Given the description of an element on the screen output the (x, y) to click on. 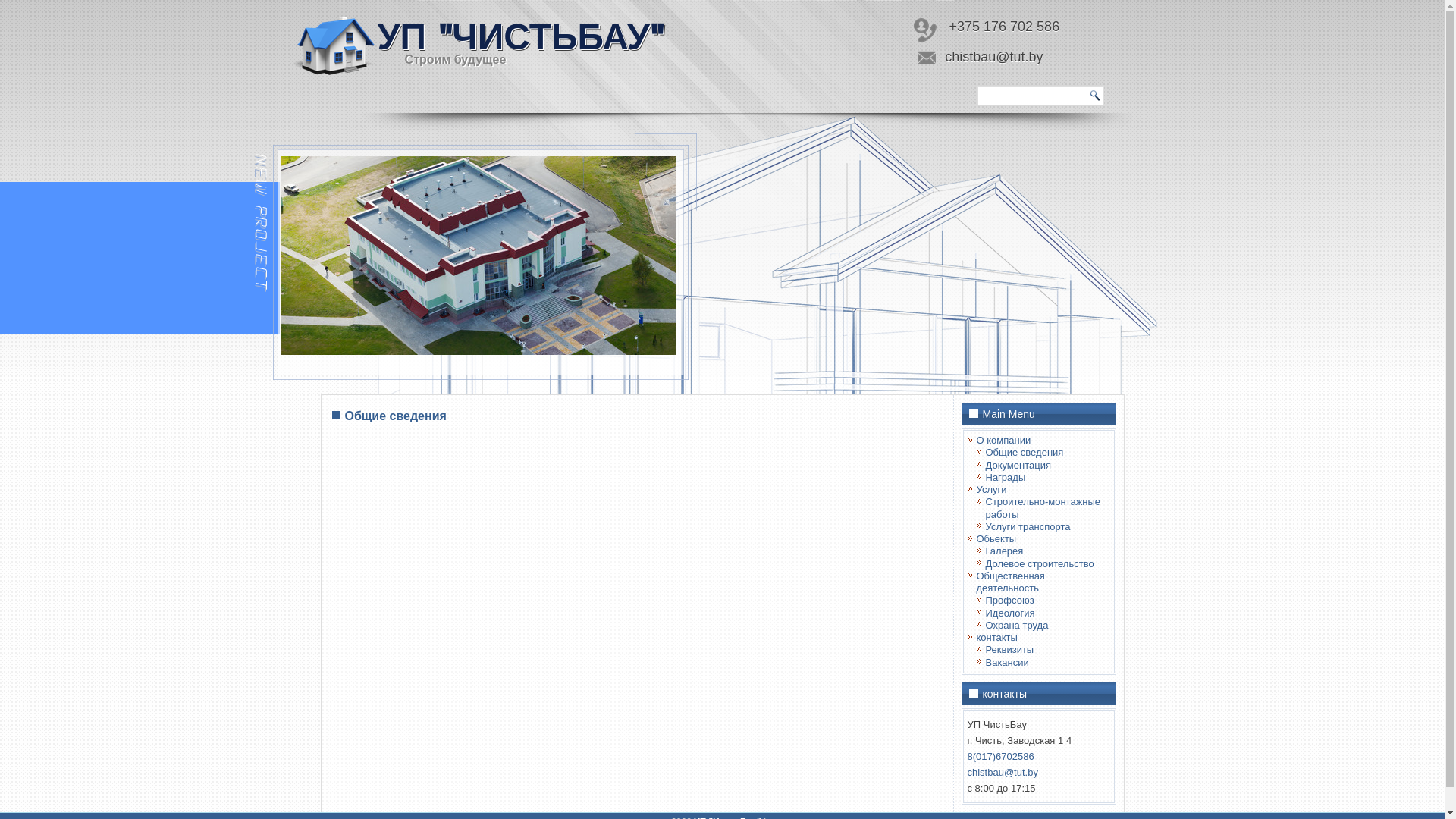
4 Element type: text (497, 367)
chistbau@tut.by Element type: text (1002, 772)
2 Element type: text (459, 367)
1 Element type: text (441, 367)
8(017)6702586 Element type: text (1000, 756)
5 Element type: text (516, 367)
3 Element type: text (478, 367)
